Given the description of an element on the screen output the (x, y) to click on. 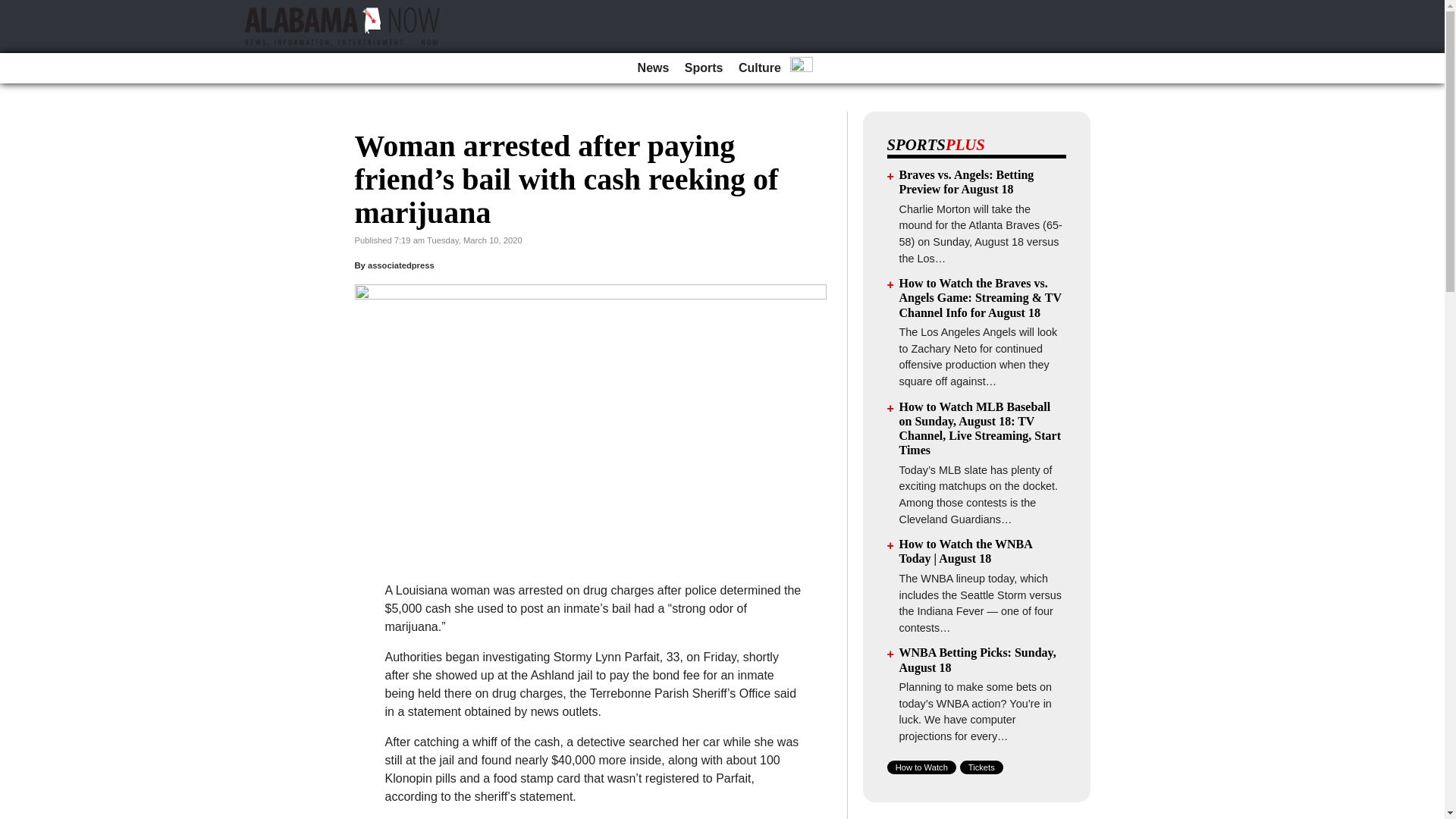
Braves vs. Angels: Betting Preview for August 18 (966, 181)
How to Watch (921, 766)
Culture (759, 68)
Go (13, 9)
WNBA Betting Picks: Sunday, August 18 (978, 659)
associatedpress (400, 265)
Tickets (981, 766)
News (653, 68)
Sports (703, 68)
